Given the description of an element on the screen output the (x, y) to click on. 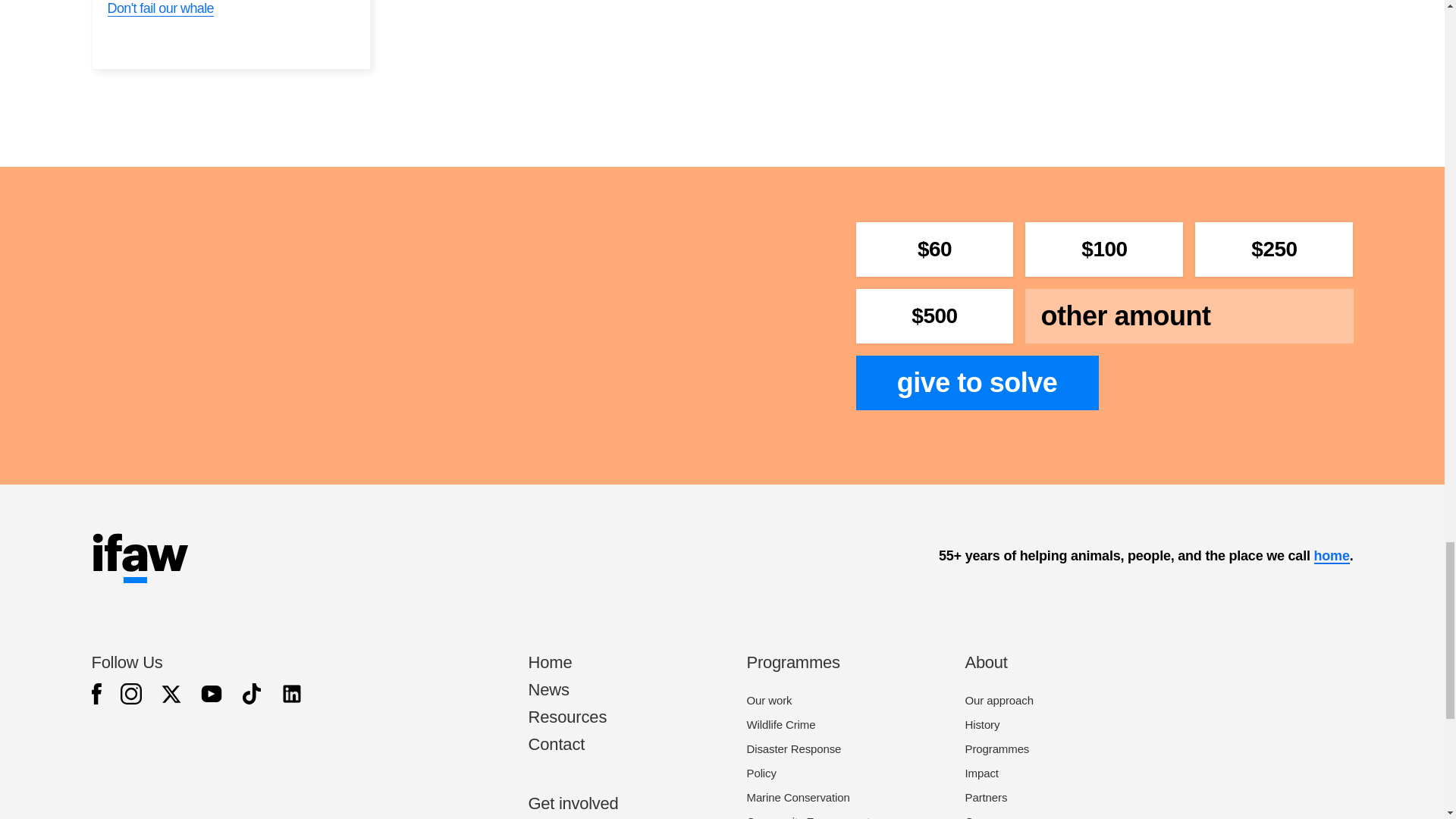
give to solve (976, 382)
home (1331, 555)
Resources (567, 716)
News (548, 689)
Home (549, 661)
Contact (556, 743)
